Given the description of an element on the screen output the (x, y) to click on. 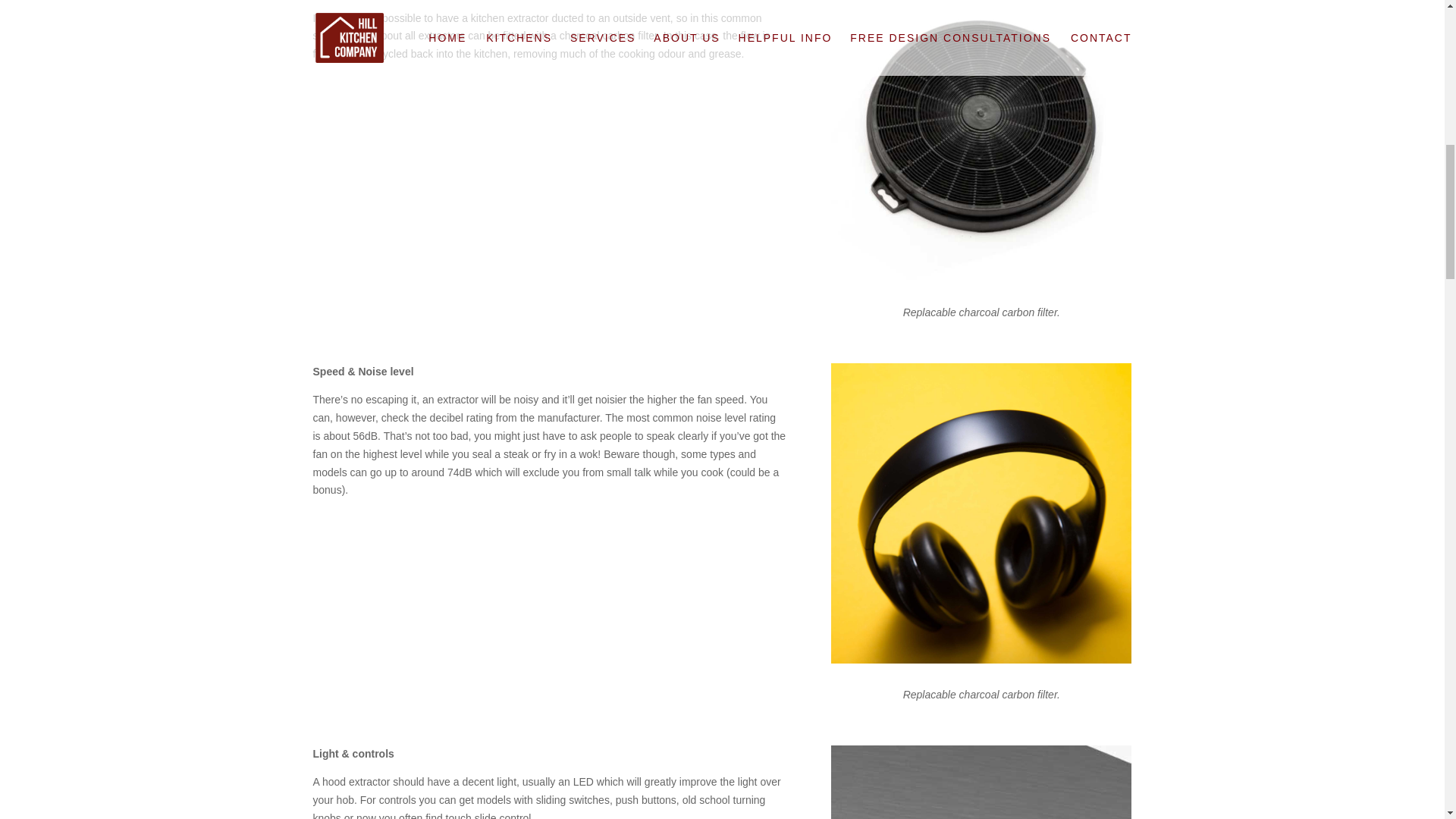
Charcoal-Filter-1 (981, 140)
Cooker-buttons (981, 782)
Ear-defenders (981, 513)
